Given the description of an element on the screen output the (x, y) to click on. 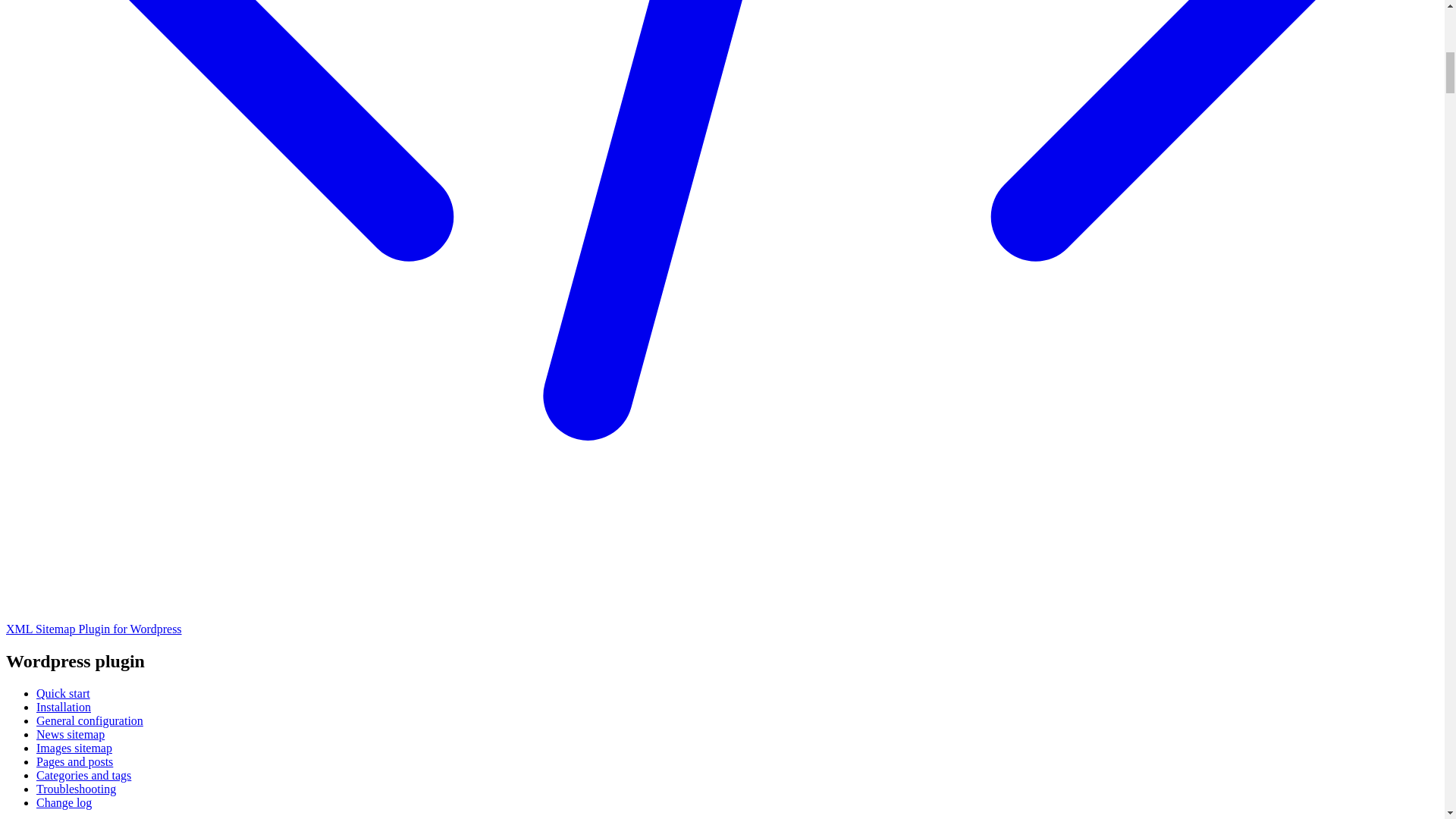
Installation (63, 707)
News sitemap (70, 734)
Quick start (63, 693)
Change log (63, 802)
Troubleshooting (76, 788)
Images sitemap (74, 748)
Categories and tags (83, 775)
General configuration (89, 720)
Pages and posts (74, 761)
